Given the description of an element on the screen output the (x, y) to click on. 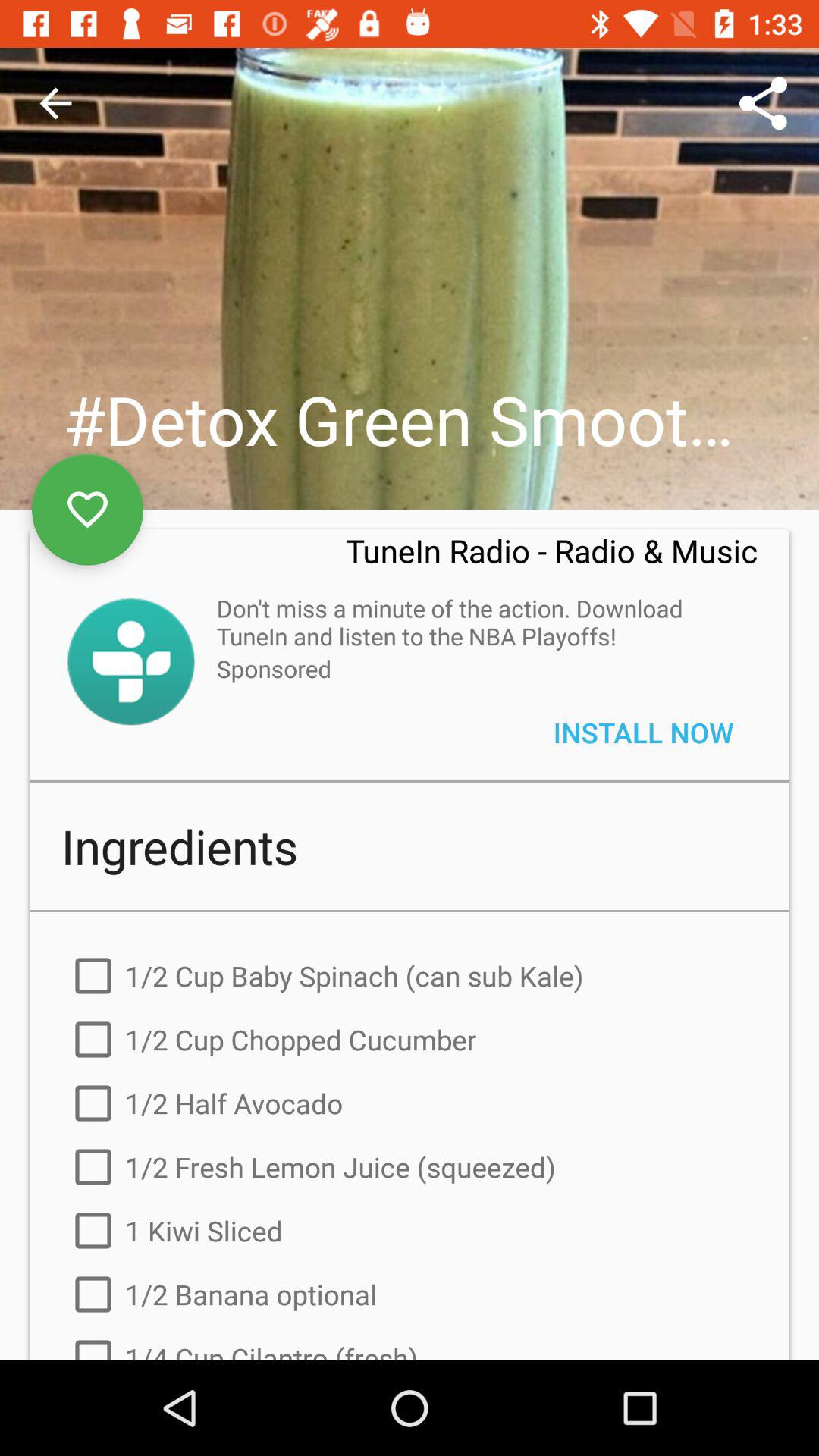
click the 1 kiwi sliced item (409, 1230)
